Given the description of an element on the screen output the (x, y) to click on. 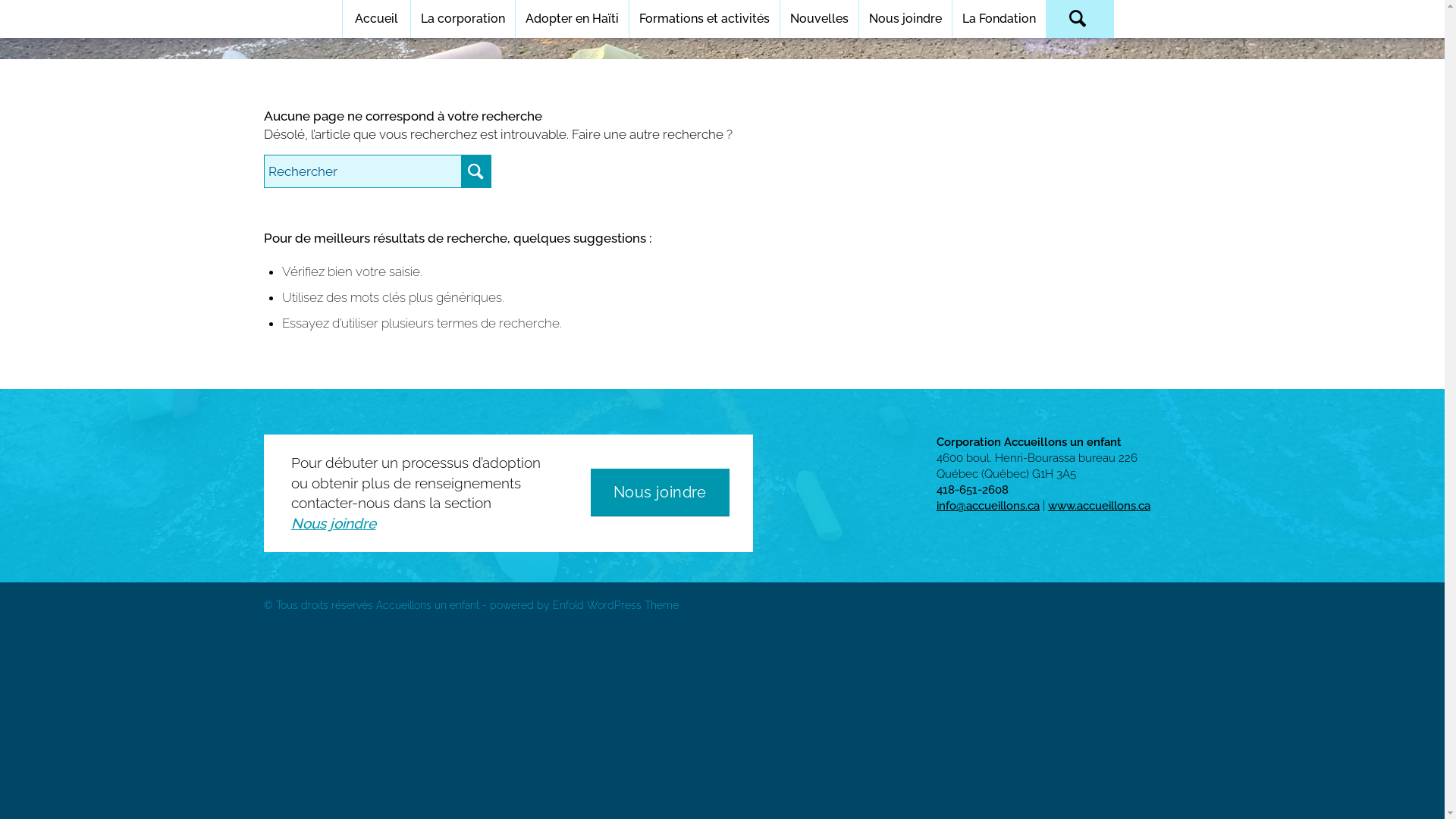
Nous joindre Element type: text (333, 522)
Nouvelles Element type: text (818, 18)
powered by Enfold WordPress Theme Element type: text (583, 605)
www.accueillons.ca Element type: text (1099, 505)
La corporation Element type: text (462, 18)
Nous joindre Element type: text (904, 18)
Nous joindre Element type: text (659, 492)
info@accueillons.ca Element type: text (987, 505)
Accueil Element type: text (376, 18)
La Fondation Element type: text (998, 18)
